Given the description of an element on the screen output the (x, y) to click on. 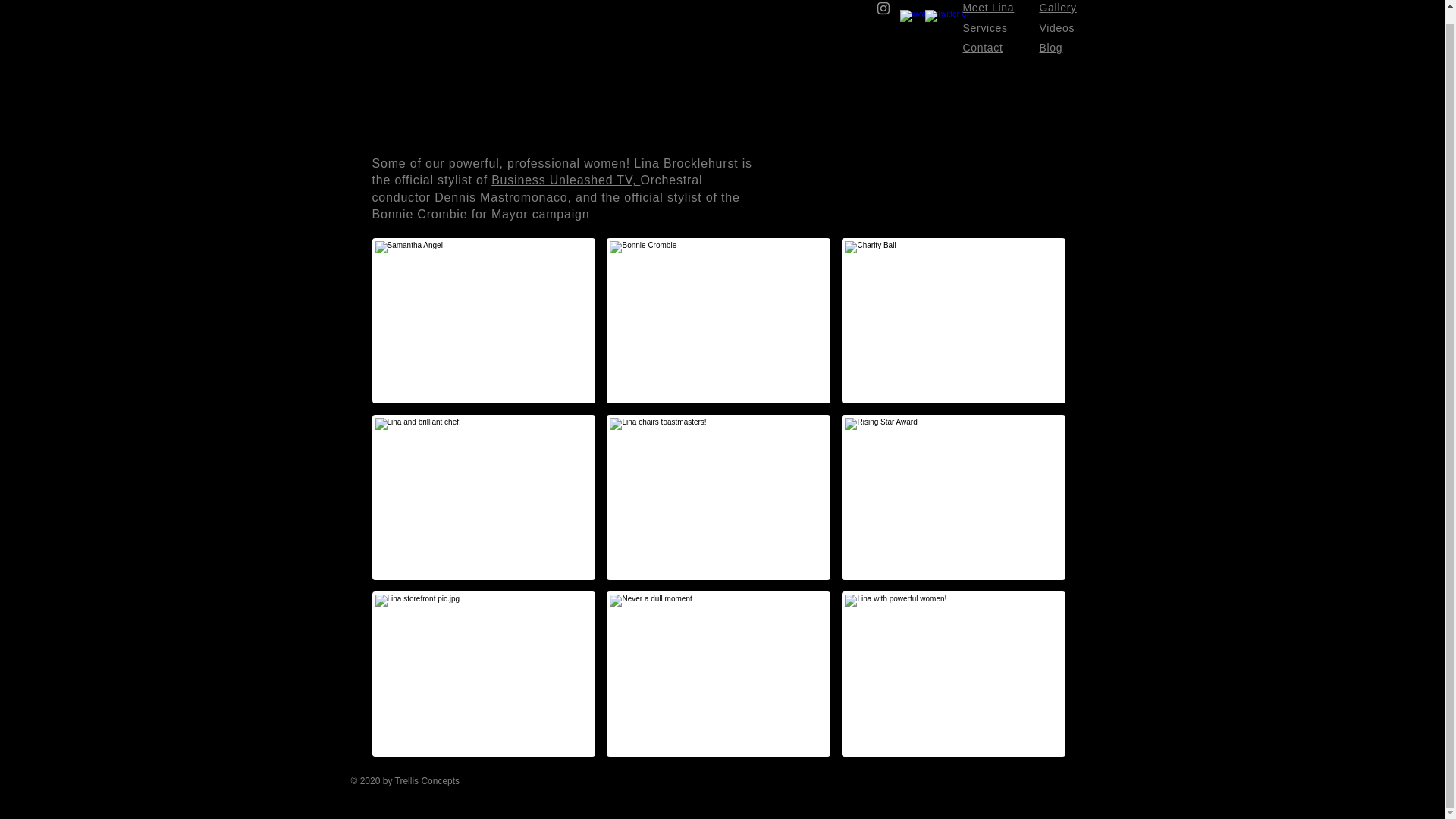
Blog (1050, 47)
Videos (1056, 28)
Meet Lina (988, 7)
Facebook Like (994, 789)
Contact (982, 47)
Services (984, 28)
Business Unleashed TV, (566, 179)
Gallery (1057, 7)
